Given the description of an element on the screen output the (x, y) to click on. 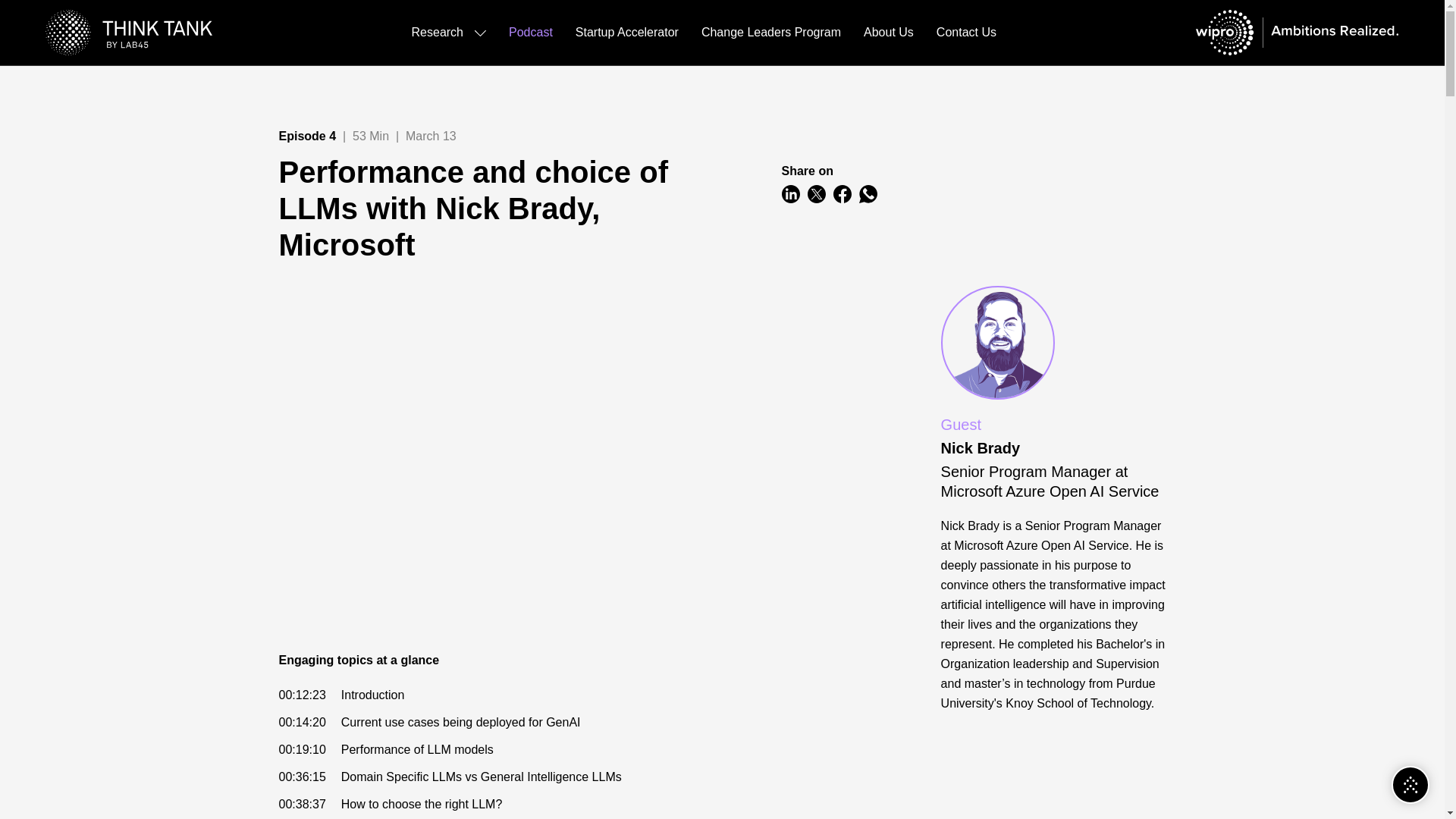
Startup Accelerator (626, 32)
Contact Us (965, 32)
Research (449, 32)
WhatsApp (867, 194)
Change Leaders Program (771, 32)
FaceBook (841, 194)
LinkedIn (789, 194)
Twitter (815, 194)
